Given the description of an element on the screen output the (x, y) to click on. 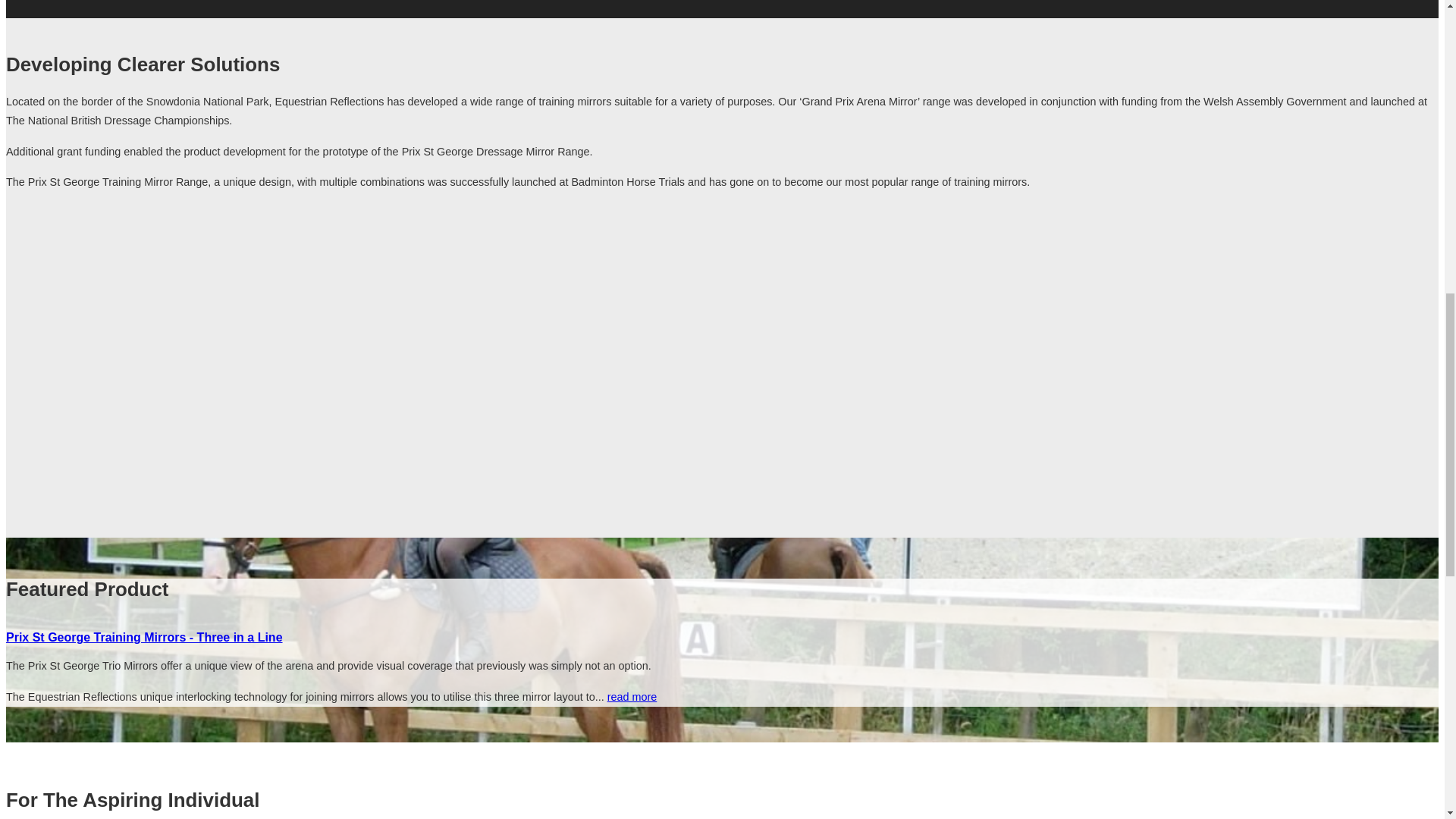
read more (632, 696)
Prix St George Training Mirrors - Three in a Line (143, 636)
Equestrian Reflections Mirror Installation (248, 359)
